Given the description of an element on the screen output the (x, y) to click on. 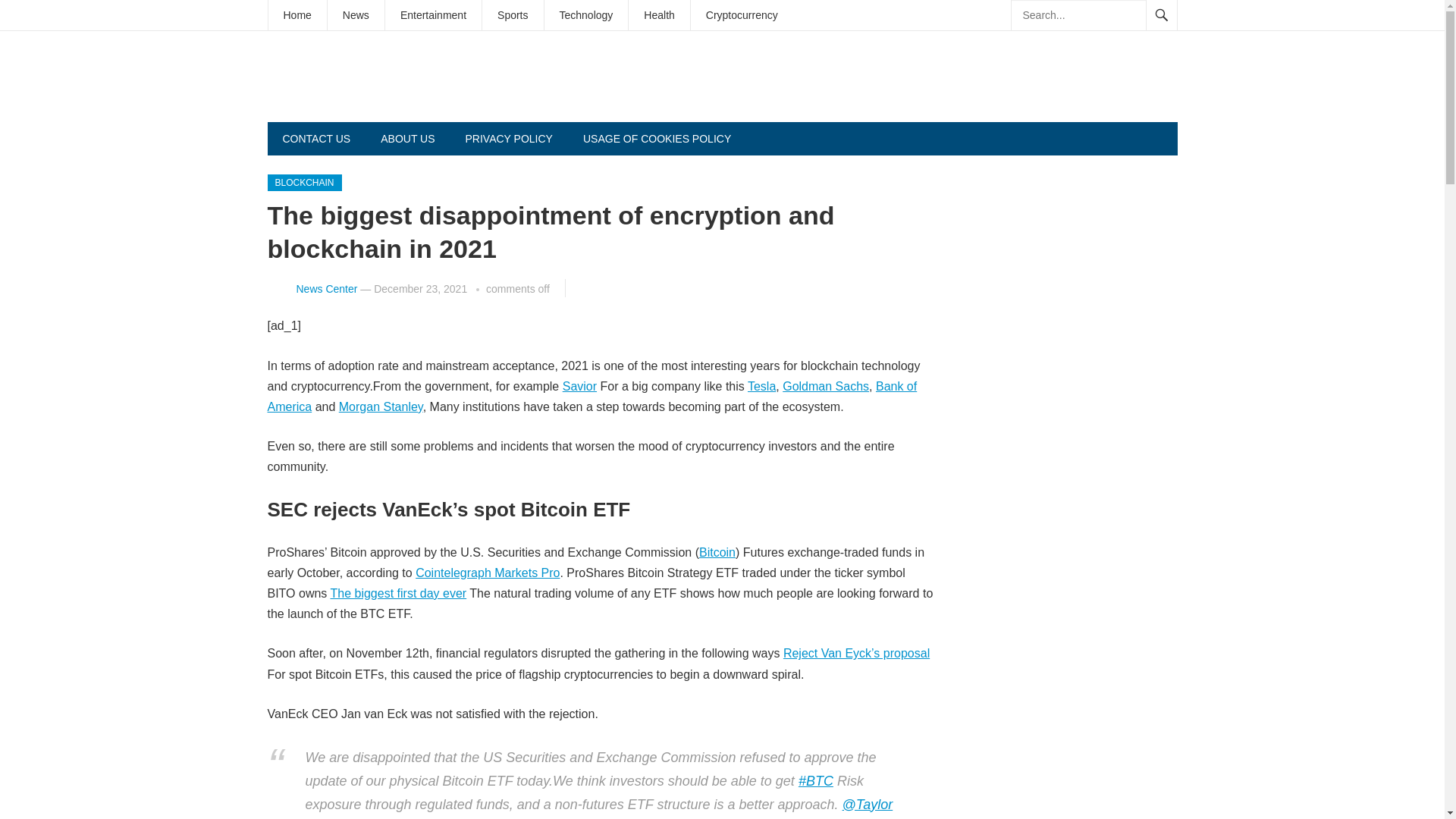
Home (296, 15)
View all posts in Blockchain (303, 182)
Sports (512, 15)
News Center (325, 288)
PRIVACY POLICY (508, 138)
Technology (586, 15)
Entertainment (433, 15)
ABOUT US (407, 138)
USAGE OF COOKIES POLICY (656, 138)
Health (658, 15)
BLOCKCHAIN (303, 182)
Posts by News Center (325, 288)
News (355, 15)
Cryptocurrency (741, 15)
Savior (579, 386)
